Given the description of an element on the screen output the (x, y) to click on. 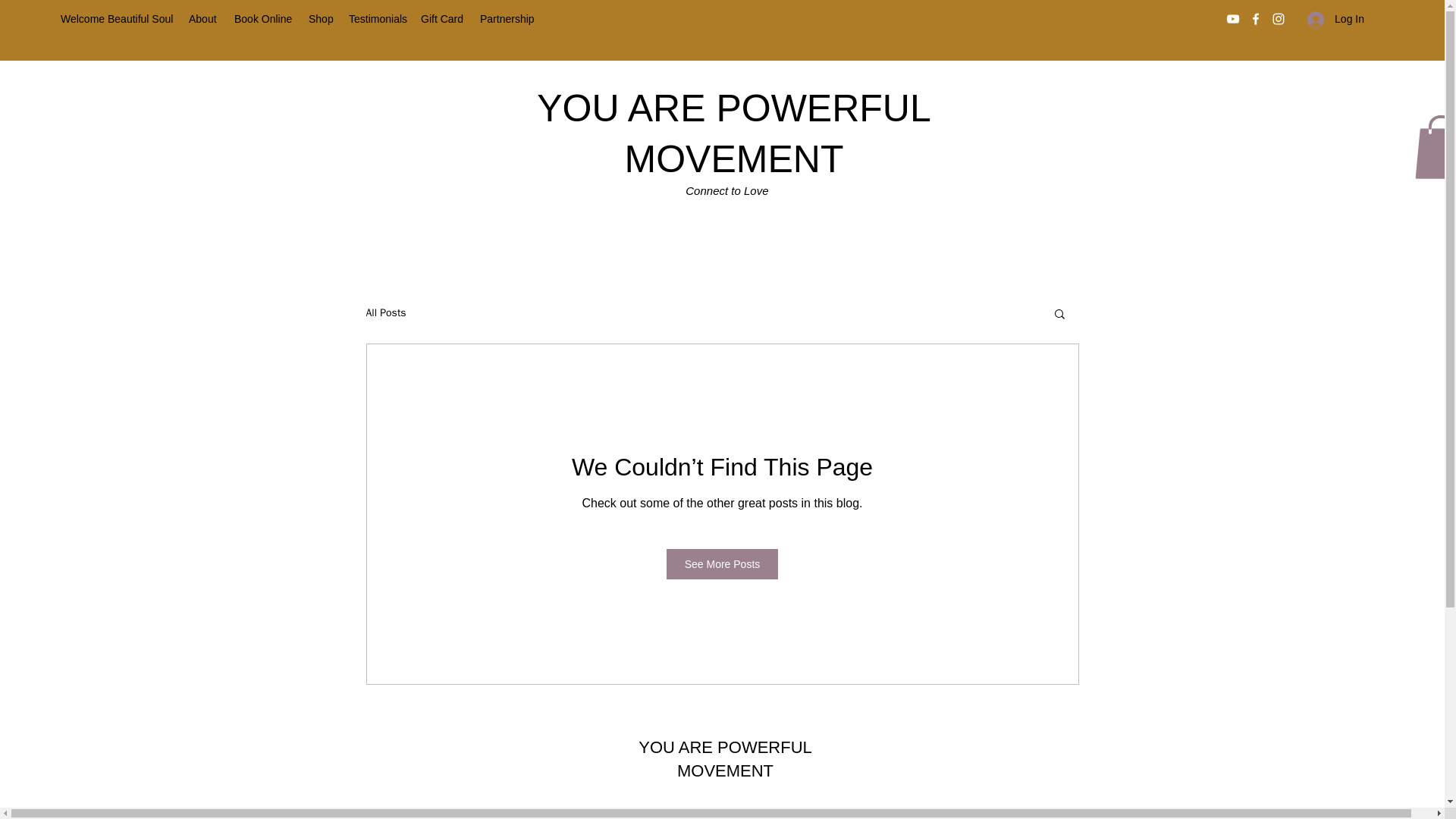
Log In (1335, 18)
YOU ARE POWERFUL MOVEMENT (734, 133)
Testimonials (376, 18)
See More Posts (722, 563)
Book Online (264, 18)
Partnership (506, 18)
All Posts (385, 313)
About (203, 18)
Gift Card (442, 18)
YOU ARE POWERFUL MOVEMENT (725, 758)
